Given the description of an element on the screen output the (x, y) to click on. 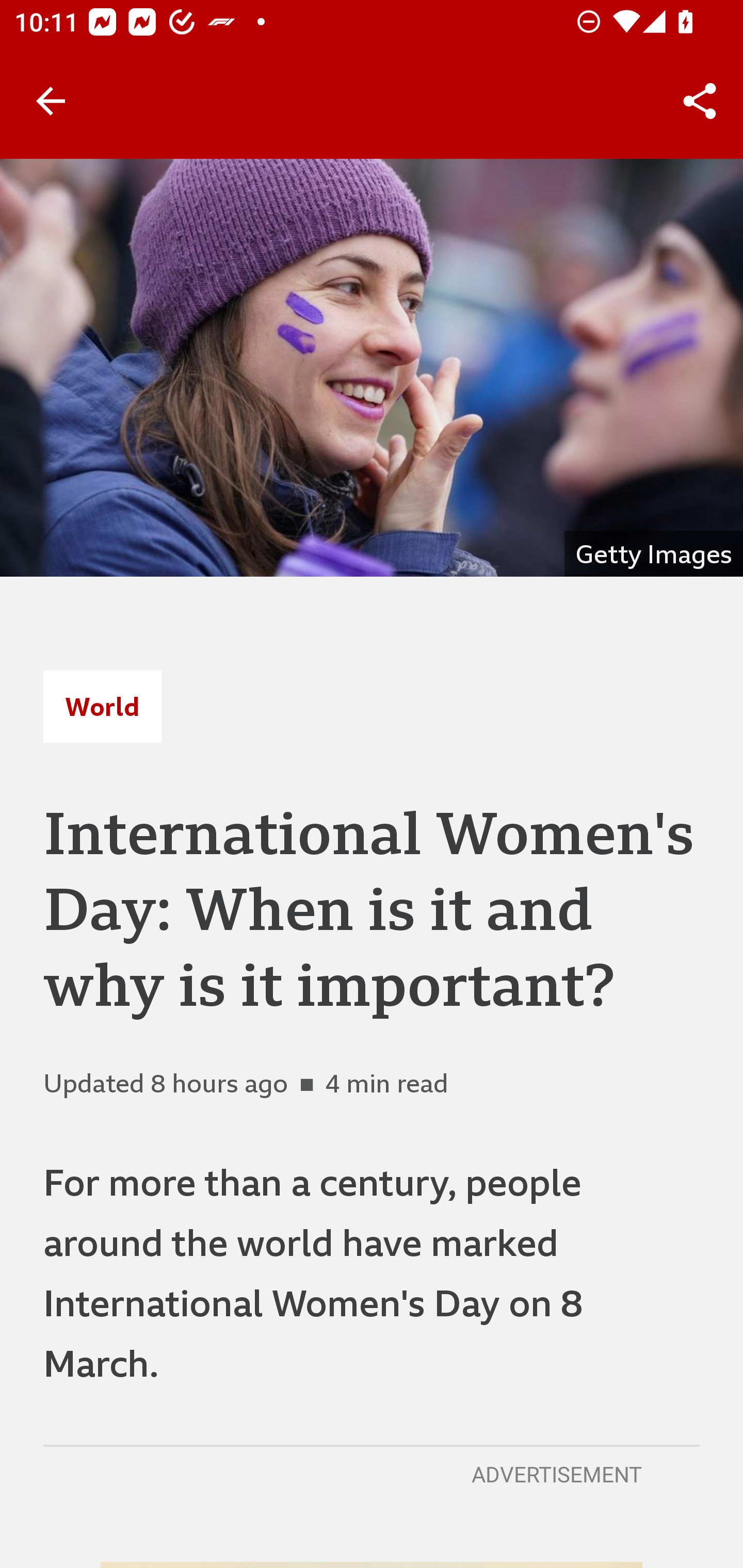
Back (50, 101)
Share (699, 101)
World (102, 706)
